Given the description of an element on the screen output the (x, y) to click on. 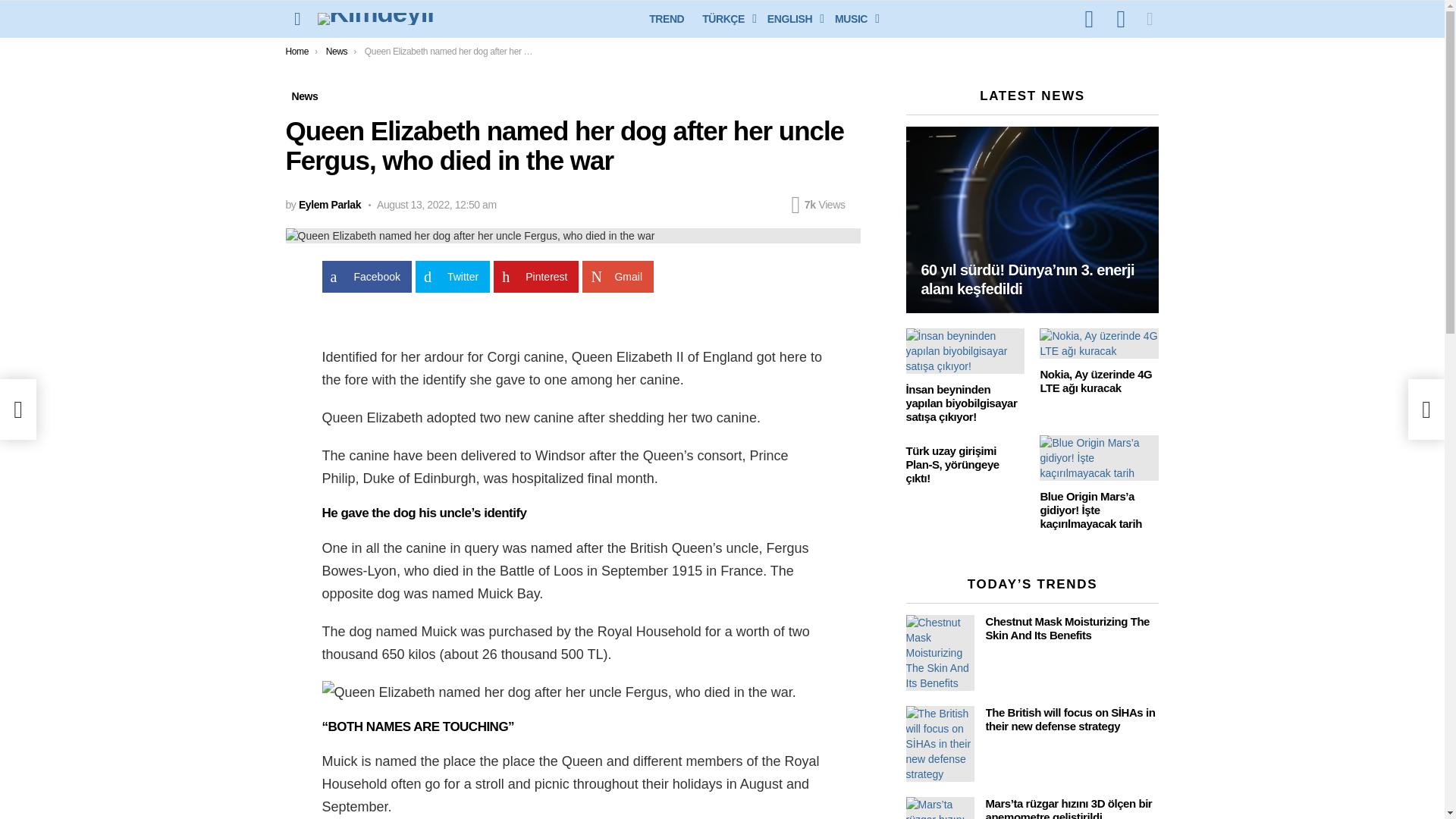
Share on Gmail (617, 276)
Posts by Eylem Parlak (329, 204)
ENGLISH (792, 18)
Share on Twitter (451, 276)
Share on Facebook (365, 276)
Menu (296, 18)
Share on Pinterest (535, 276)
MUSIC (853, 18)
TREND (666, 18)
